Given the description of an element on the screen output the (x, y) to click on. 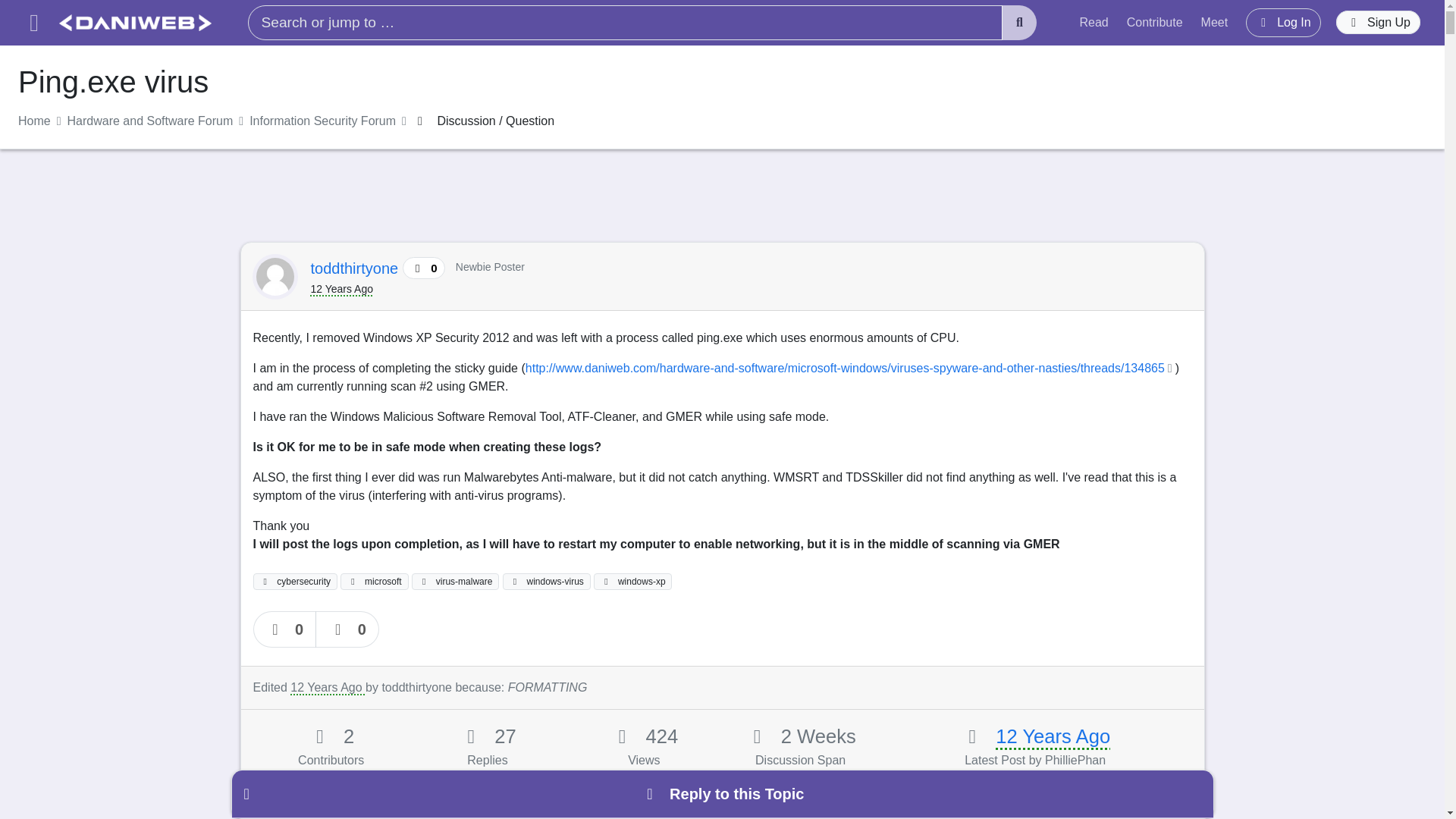
DaniWeb (135, 22)
Meet (1214, 22)
virus-malware (455, 581)
Toggle Menu (33, 22)
Search (1018, 22)
microsoft (373, 581)
Menu (33, 22)
windows-xp (632, 581)
0 (346, 628)
Information Security Forum (322, 120)
